Given the description of an element on the screen output the (x, y) to click on. 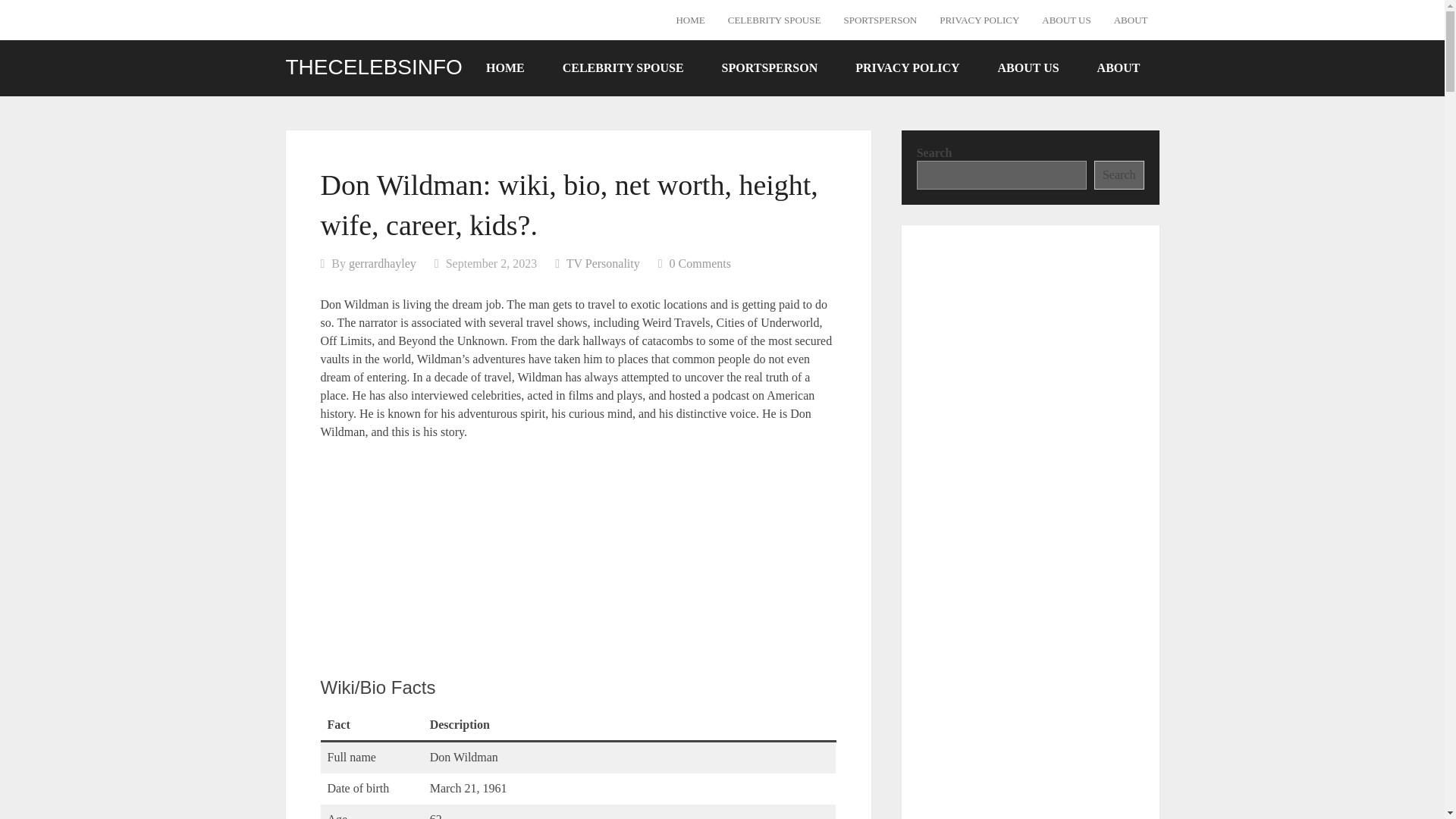
HOME (689, 20)
PRIVACY POLICY (906, 67)
0 Comments (699, 263)
HOME (505, 67)
Search (1119, 174)
TV Personality (603, 263)
CELEBRITY SPOUSE (774, 20)
PRIVACY POLICY (979, 20)
gerrardhayley (382, 263)
ABOUT US (1028, 67)
SPORTSPERSON (770, 67)
THECELEBSINFO (373, 66)
ABOUT (1130, 20)
SPORTSPERSON (879, 20)
CELEBRITY SPOUSE (623, 67)
